Given the description of an element on the screen output the (x, y) to click on. 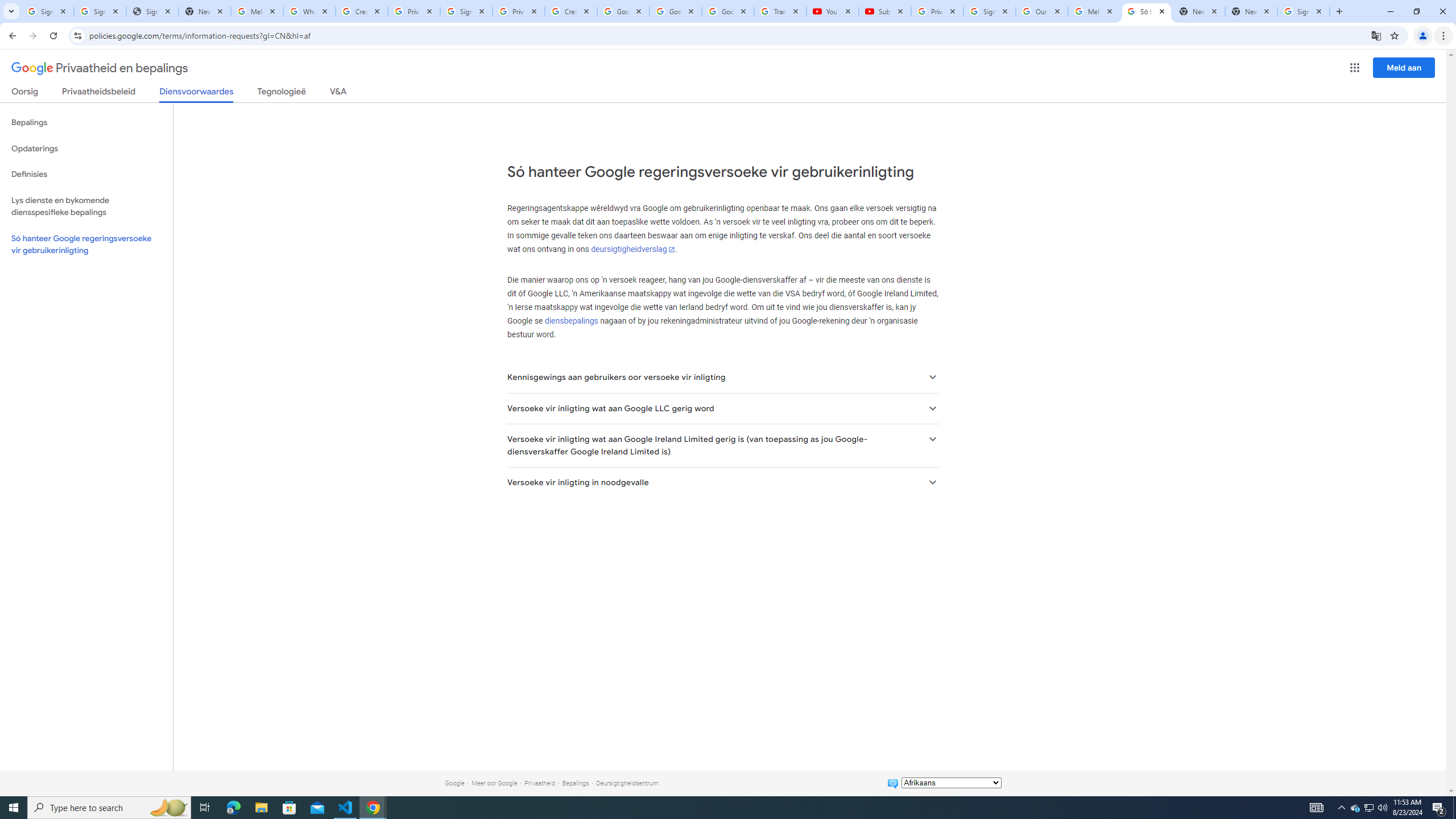
Meld aan (1404, 67)
Create your Google Account (571, 11)
diensbepalings (571, 321)
Privaatheidsbeleid (98, 93)
Sign in - Google Accounts (466, 11)
Google-programme (1355, 67)
Deursigtigheidsentrum (626, 783)
Meer oor Google (493, 783)
Sign in - Google Accounts (47, 11)
Google (454, 783)
Definisies (86, 174)
